Given the description of an element on the screen output the (x, y) to click on. 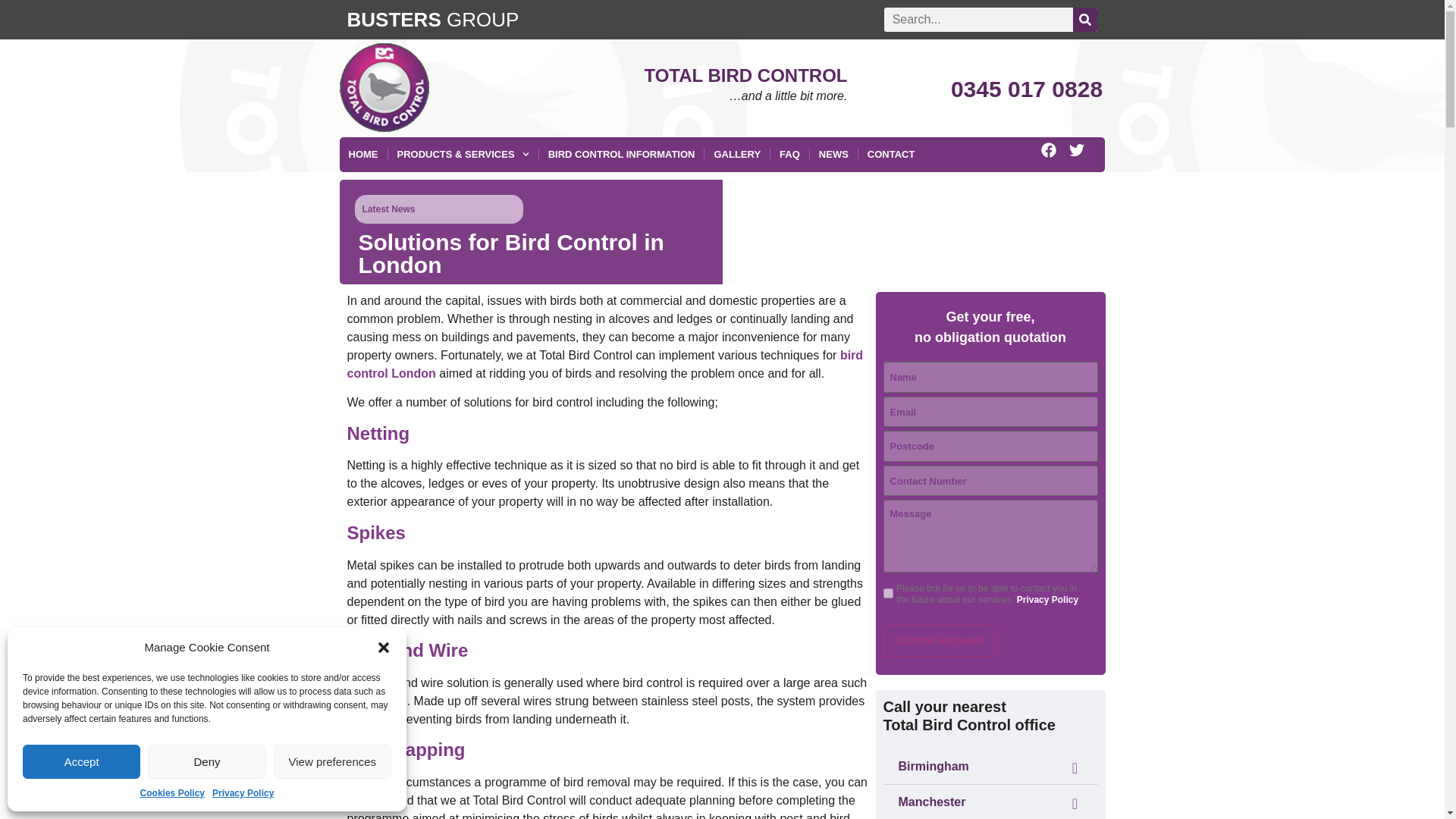
Privacy Policy (242, 793)
Accept (81, 761)
HOME (363, 154)
0345 017 0828 (1026, 88)
Cookies Policy (172, 793)
View preferences (332, 761)
FAQ (789, 154)
BIRD CONTROL INFORMATION (621, 154)
Deny (206, 761)
bird control London (605, 364)
CONTACT (891, 154)
NEWS (833, 154)
Submit Request (938, 640)
GALLERY (737, 154)
